Given the description of an element on the screen output the (x, y) to click on. 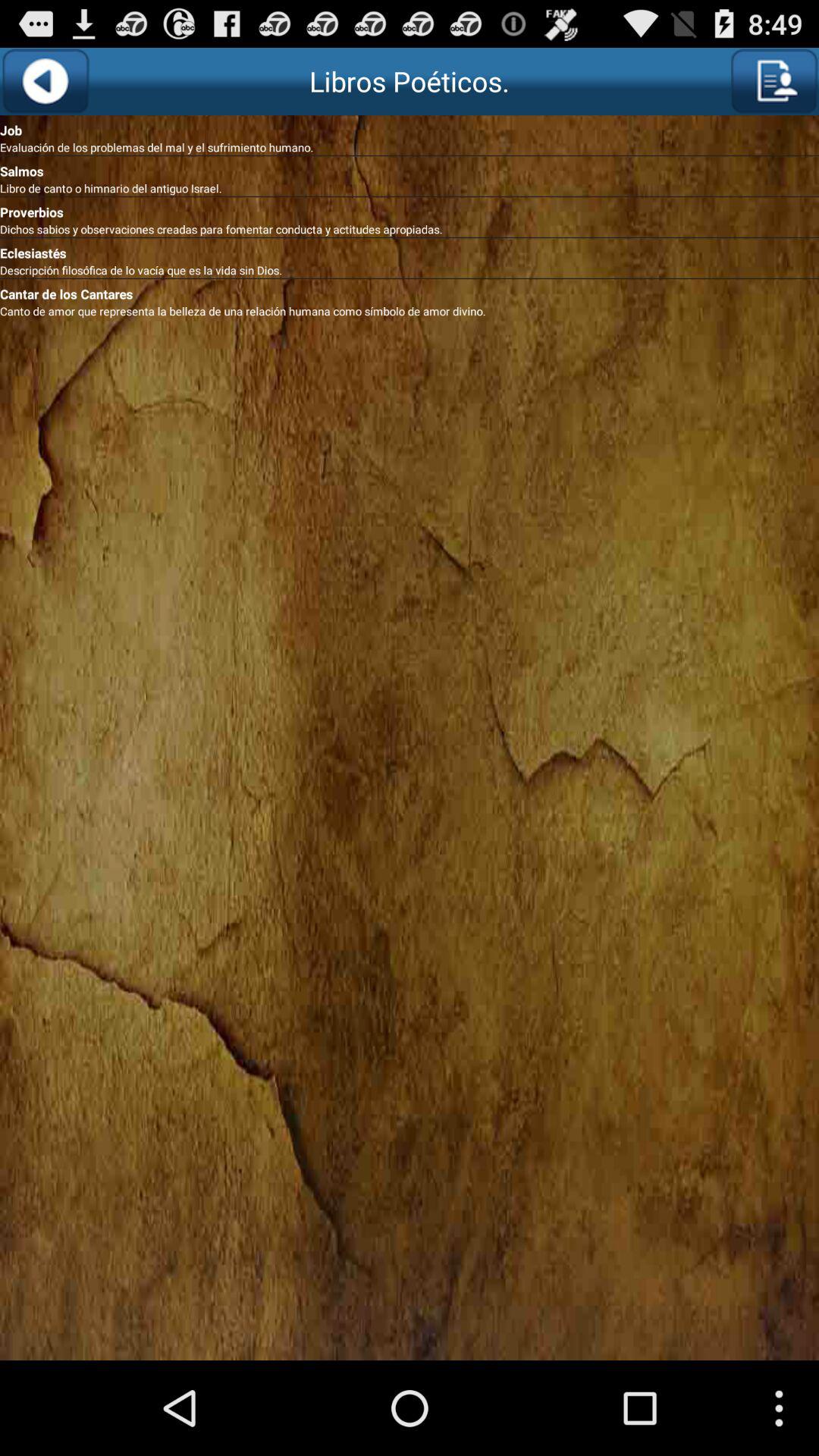
click the icon below the dichos sabios y icon (409, 250)
